Given the description of an element on the screen output the (x, y) to click on. 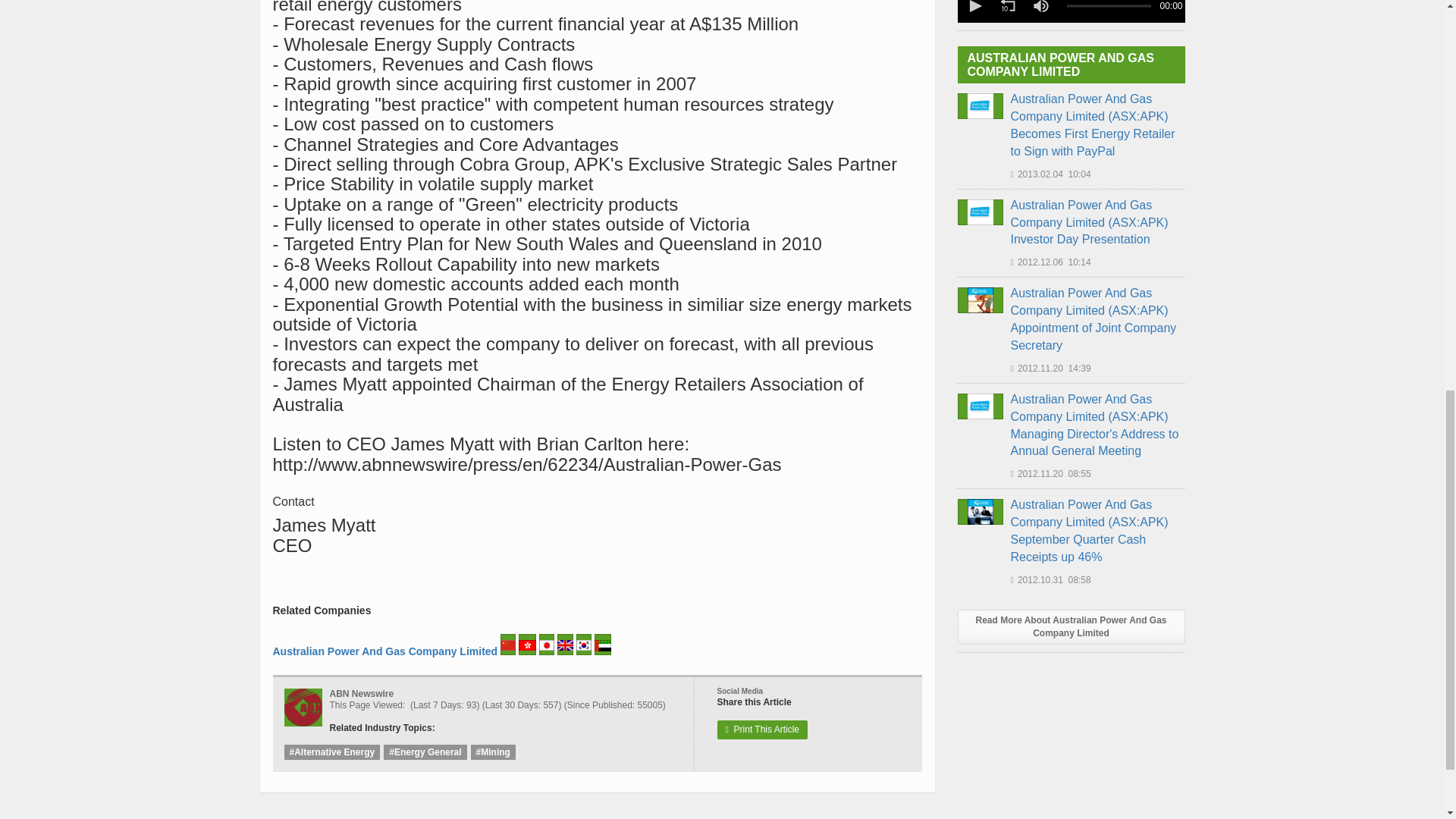
Print This Article Australian Power And Gas Company Limited (762, 729)
Australian Power And Gas Company Limited (385, 651)
Alternative Energy (331, 752)
Energy General (424, 752)
Mining (492, 752)
